Given the description of an element on the screen output the (x, y) to click on. 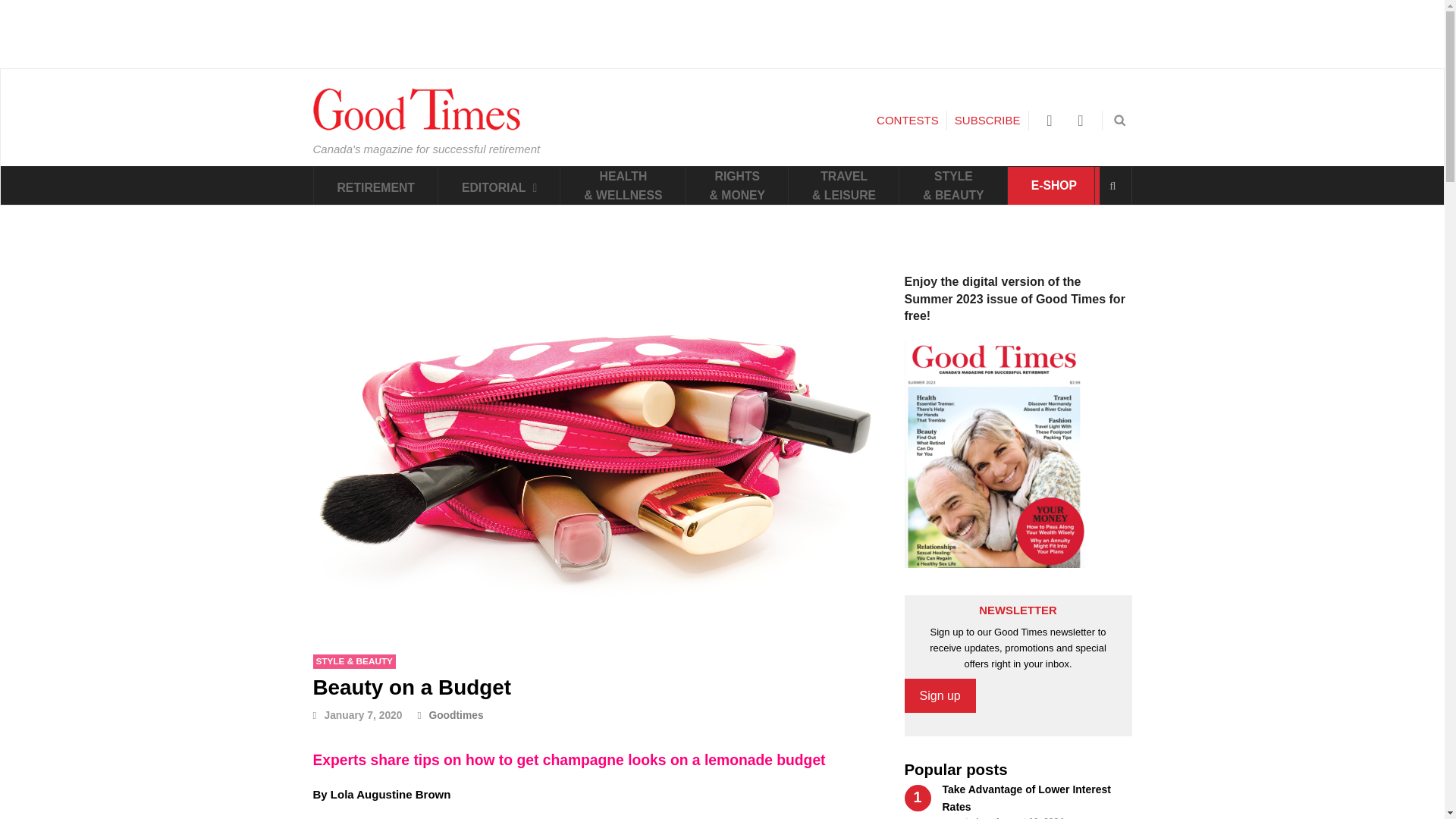
Sign up (939, 695)
3rd party ad content (721, 33)
RETIREMENT (376, 185)
Goodtimes (449, 715)
E-SHOP (1053, 185)
Good Times (416, 126)
Take Advantage of Lower Interest Rates (1026, 797)
Email (1080, 120)
Search (1112, 185)
EDITORIAL (499, 185)
